Given the description of an element on the screen output the (x, y) to click on. 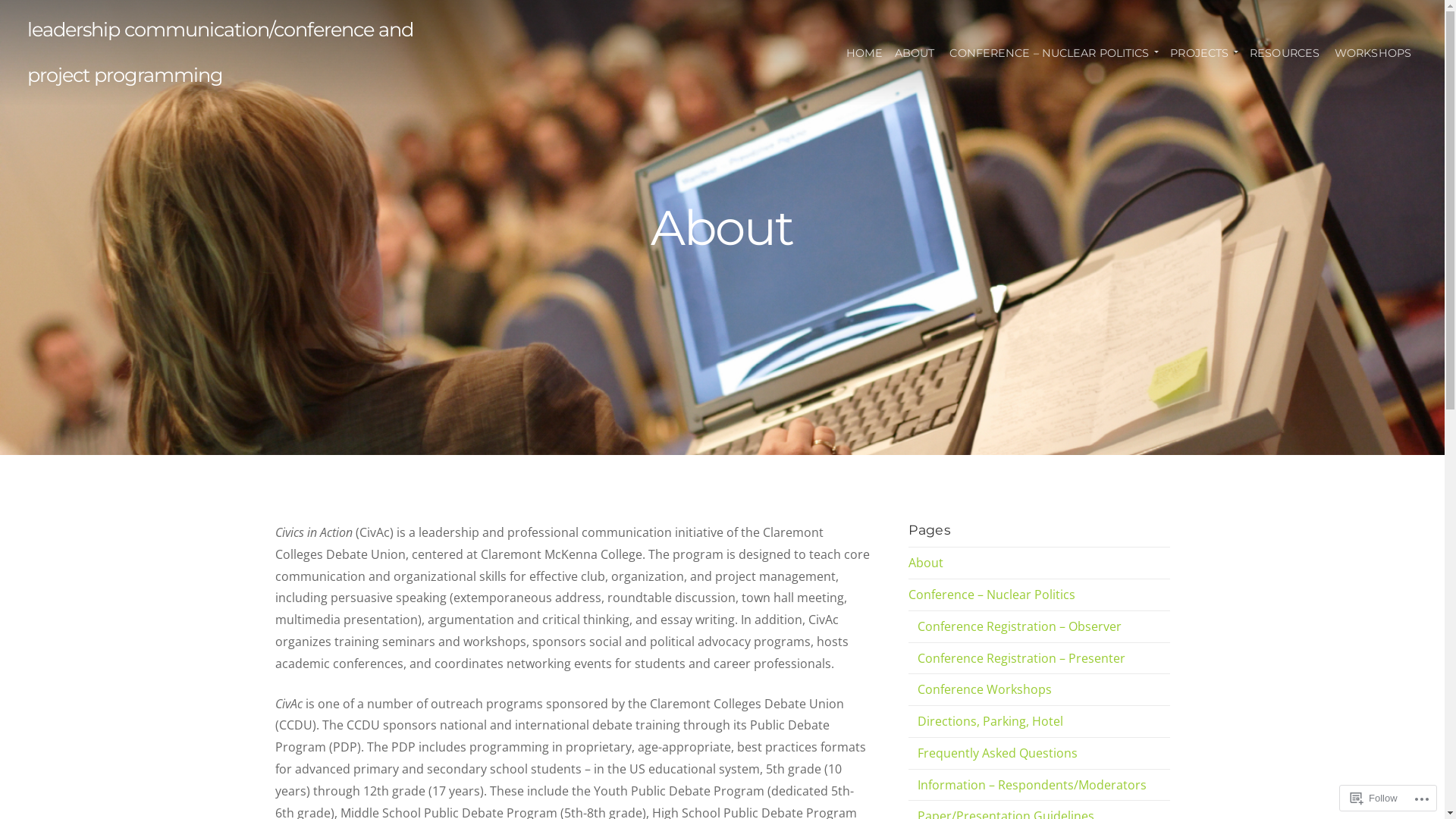
Frequently Asked Questions Element type: text (997, 752)
leadership communication/conference and project programming Element type: text (220, 51)
ABOUT Element type: text (914, 52)
HOME Element type: text (864, 52)
PROJECTS Element type: text (1202, 52)
About Element type: text (925, 562)
Conference Workshops Element type: text (984, 688)
Directions, Parking, Hotel Element type: text (990, 720)
WORKSHOPS Element type: text (1372, 52)
Follow Element type: text (1373, 797)
RESOURCES Element type: text (1284, 52)
